Given the description of an element on the screen output the (x, y) to click on. 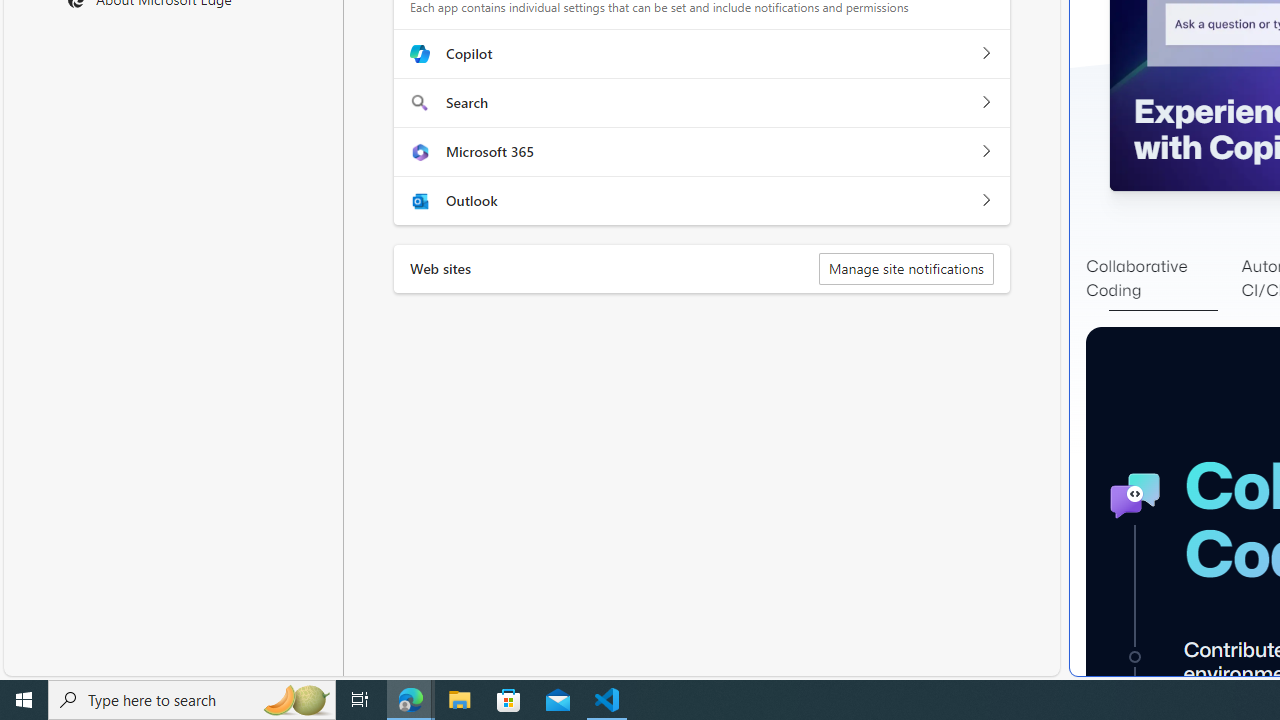
Visual Studio Code - 1 running window (607, 699)
Copilot (985, 54)
GitHub Collaboration Icon (1134, 496)
Collaborative Coding (1163, 278)
Task View (359, 699)
Manage site notifications (905, 268)
Search highlights icon opens search home window (295, 699)
Search (985, 102)
Type here to search (191, 699)
Microsoft 365 (985, 151)
Microsoft Edge - 2 running windows (411, 699)
Start (24, 699)
Microsoft Store (509, 699)
Outlook (985, 200)
